Given the description of an element on the screen output the (x, y) to click on. 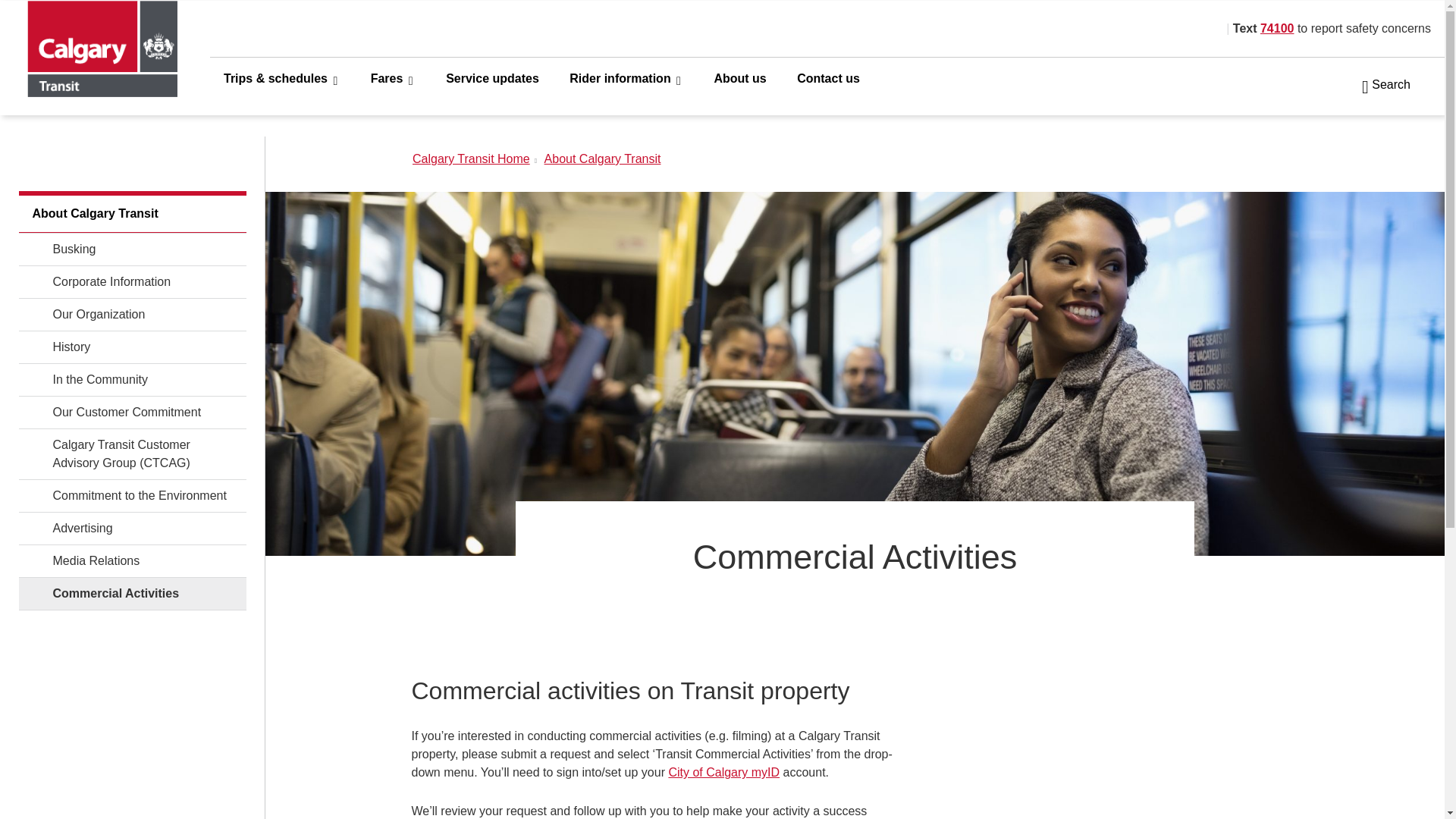
Corporate Information (131, 282)
Rider information (626, 77)
Busking (131, 249)
74100 (1277, 28)
Our Customer Commitment (131, 412)
History (131, 347)
About Calgary Transit (131, 213)
Commercial Activities (131, 593)
Service updates (492, 77)
Commitment to the Environment (131, 495)
Media Relations (131, 561)
Advertising (131, 528)
Our Organization (131, 314)
Fares (392, 77)
In the Community (131, 379)
